Given the description of an element on the screen output the (x, y) to click on. 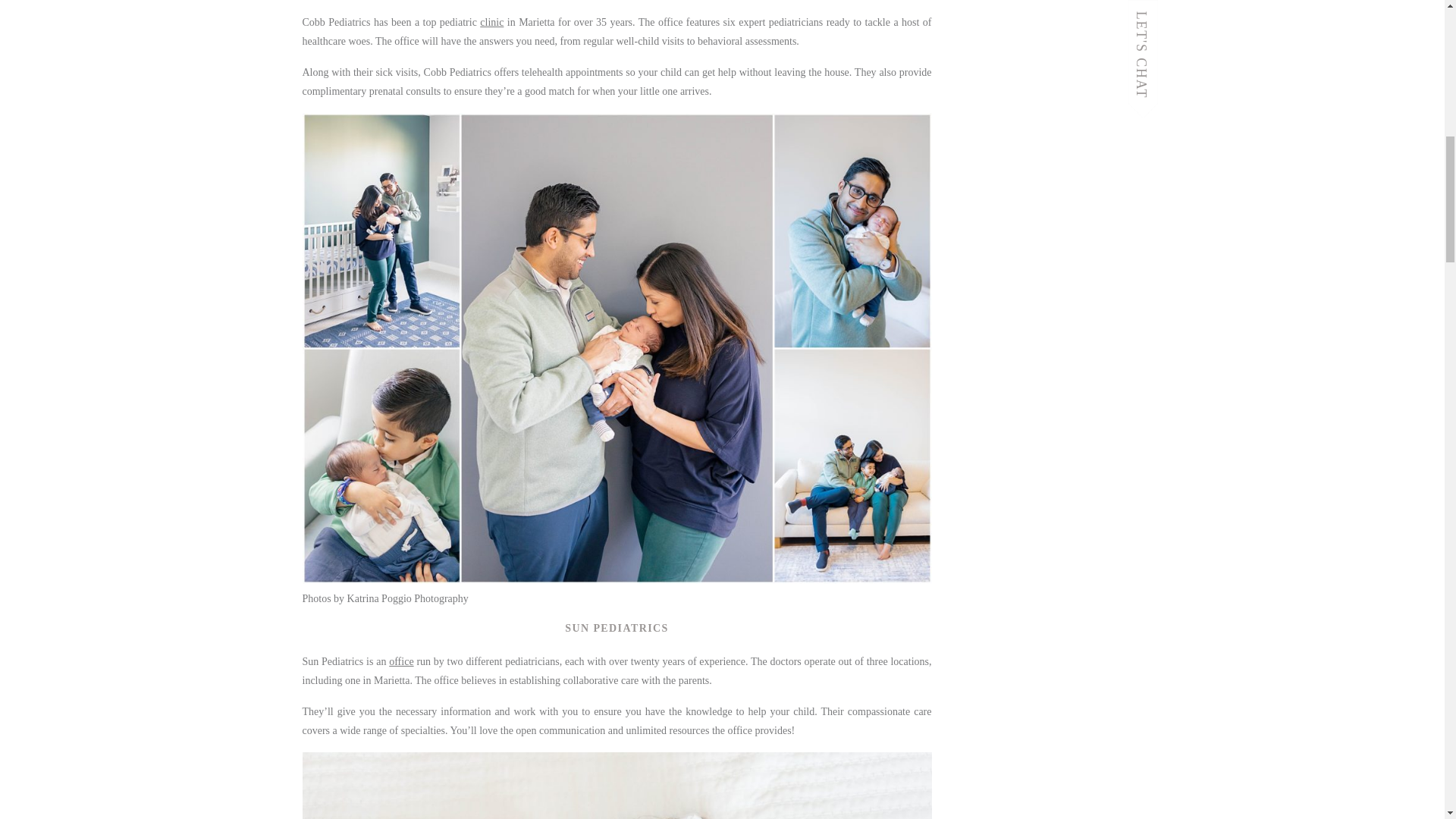
office (400, 660)
clinic (491, 21)
